Given the description of an element on the screen output the (x, y) to click on. 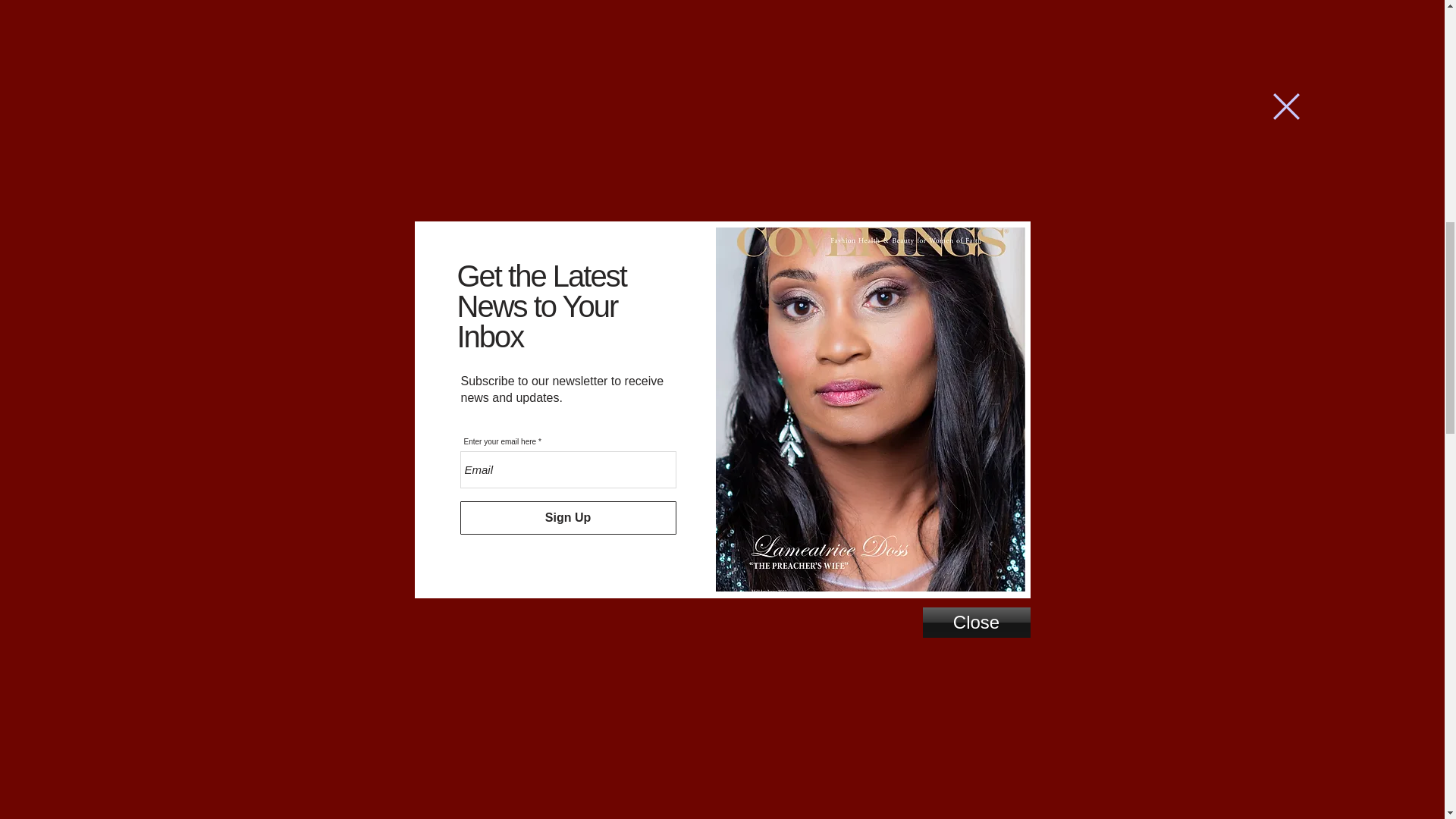
3 min read (673, 30)
Fashion: (481, 74)
Jun 22, 2021 (517, 105)
Paulette Black (499, 30)
Paulette Black (504, 30)
May 22, 2021 (602, 30)
